Given the description of an element on the screen output the (x, y) to click on. 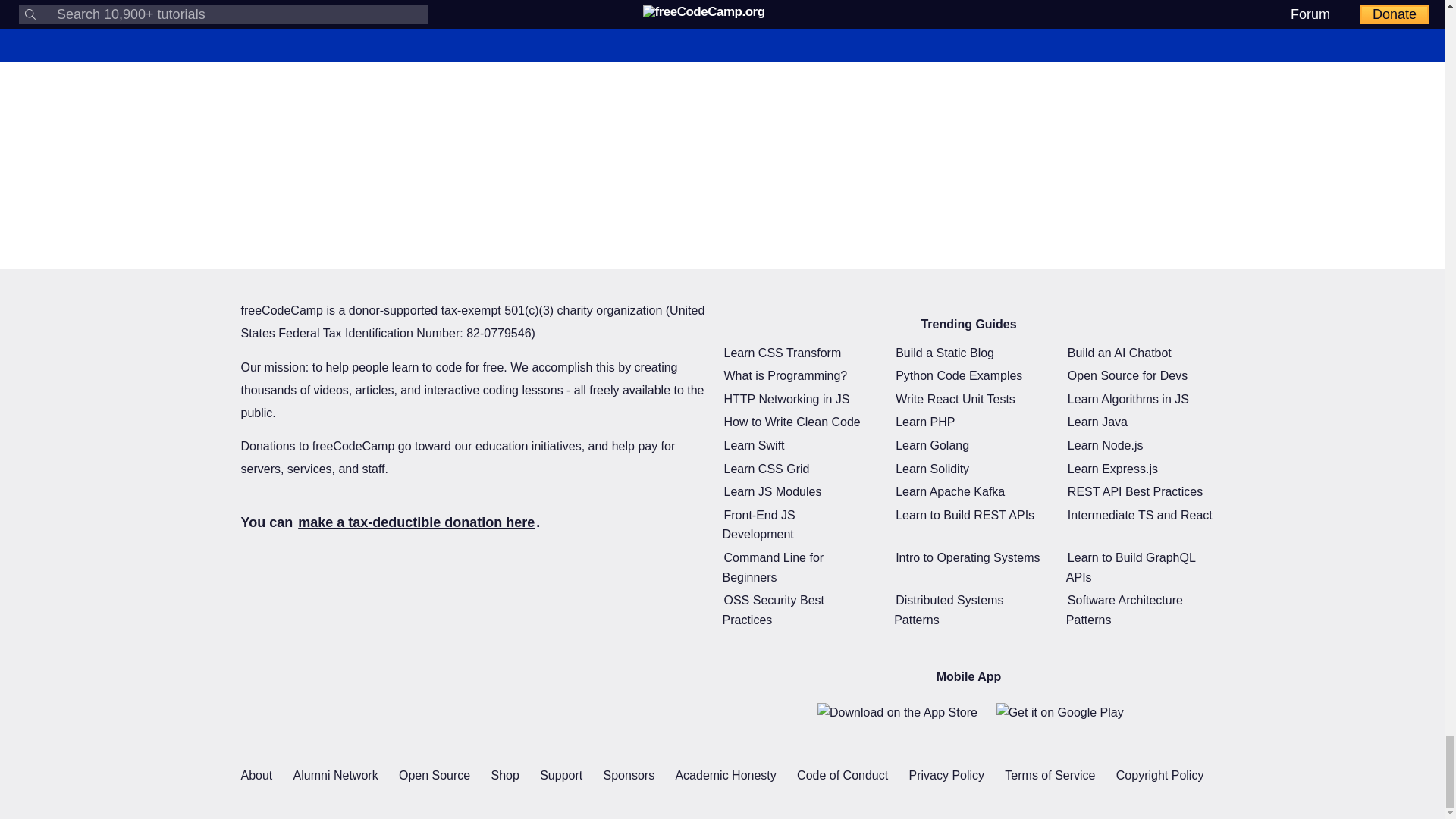
Build an AI Chatbot (1119, 352)
Learn Java (1097, 421)
Open Source for Devs (1127, 375)
Write React Unit Tests (954, 399)
Learn CSS Grid (766, 468)
Learn Golang (932, 445)
What is Programming? (785, 375)
Build a Static Blog (944, 352)
Learn CSS Transform (782, 352)
Learn Solidity (932, 468)
Learn Swift (754, 445)
Learn Algorithms in JS (1128, 399)
How to Write Clean Code (791, 421)
Python Code Examples (958, 375)
Learn Apache Kafka (949, 491)
